Given the description of an element on the screen output the (x, y) to click on. 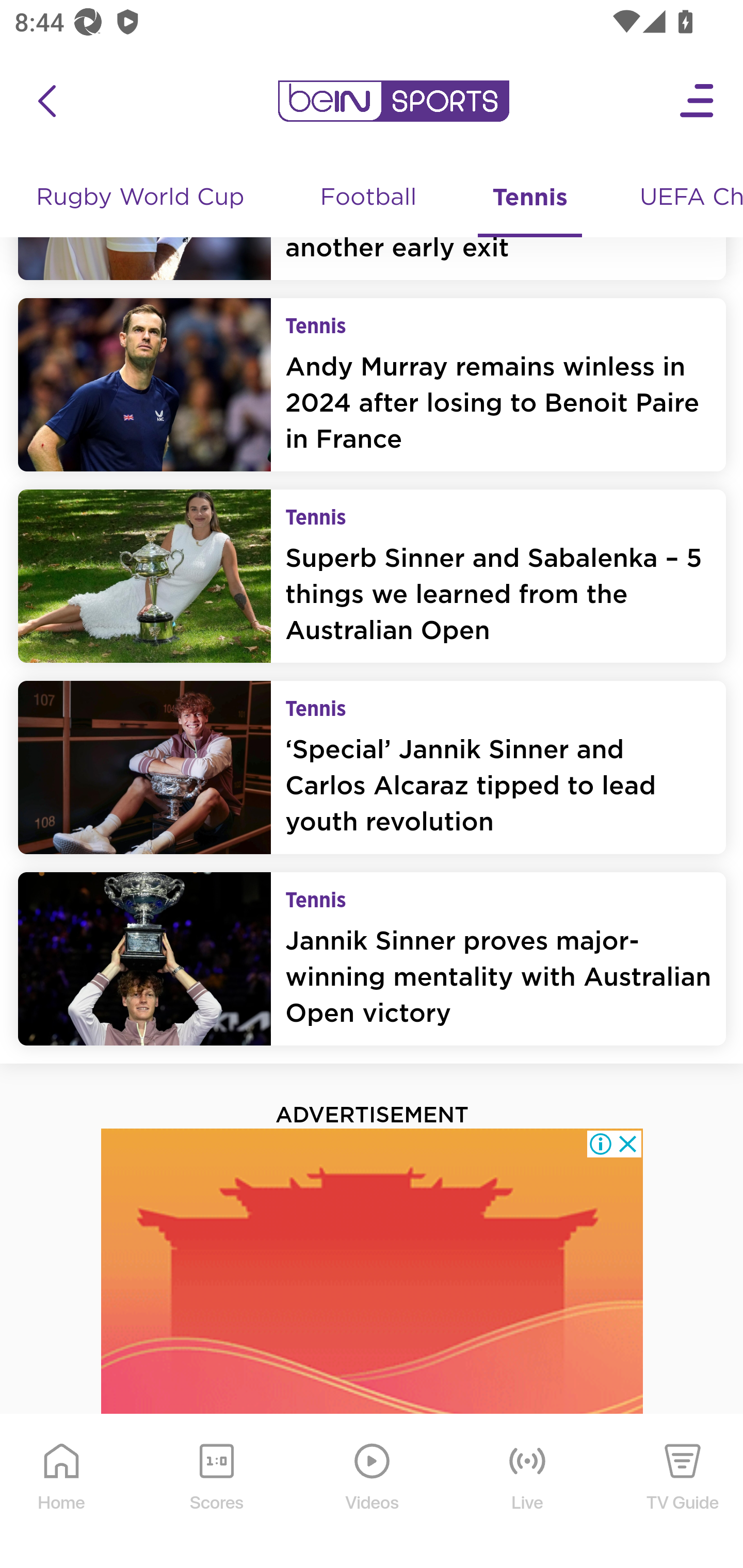
en-my?platform=mobile_android bein logo (392, 102)
icon back (46, 102)
Open Menu Icon (697, 102)
Rugby World Cup (142, 199)
Football (369, 199)
Tennis (530, 199)
UEFA Champions League (683, 199)
Advertisement (372, 1349)
Home Home Icon Home (61, 1493)
Scores Scores Icon Scores (216, 1493)
Videos Videos Icon Videos (372, 1493)
TV Guide TV Guide Icon TV Guide (682, 1493)
